Given the description of an element on the screen output the (x, y) to click on. 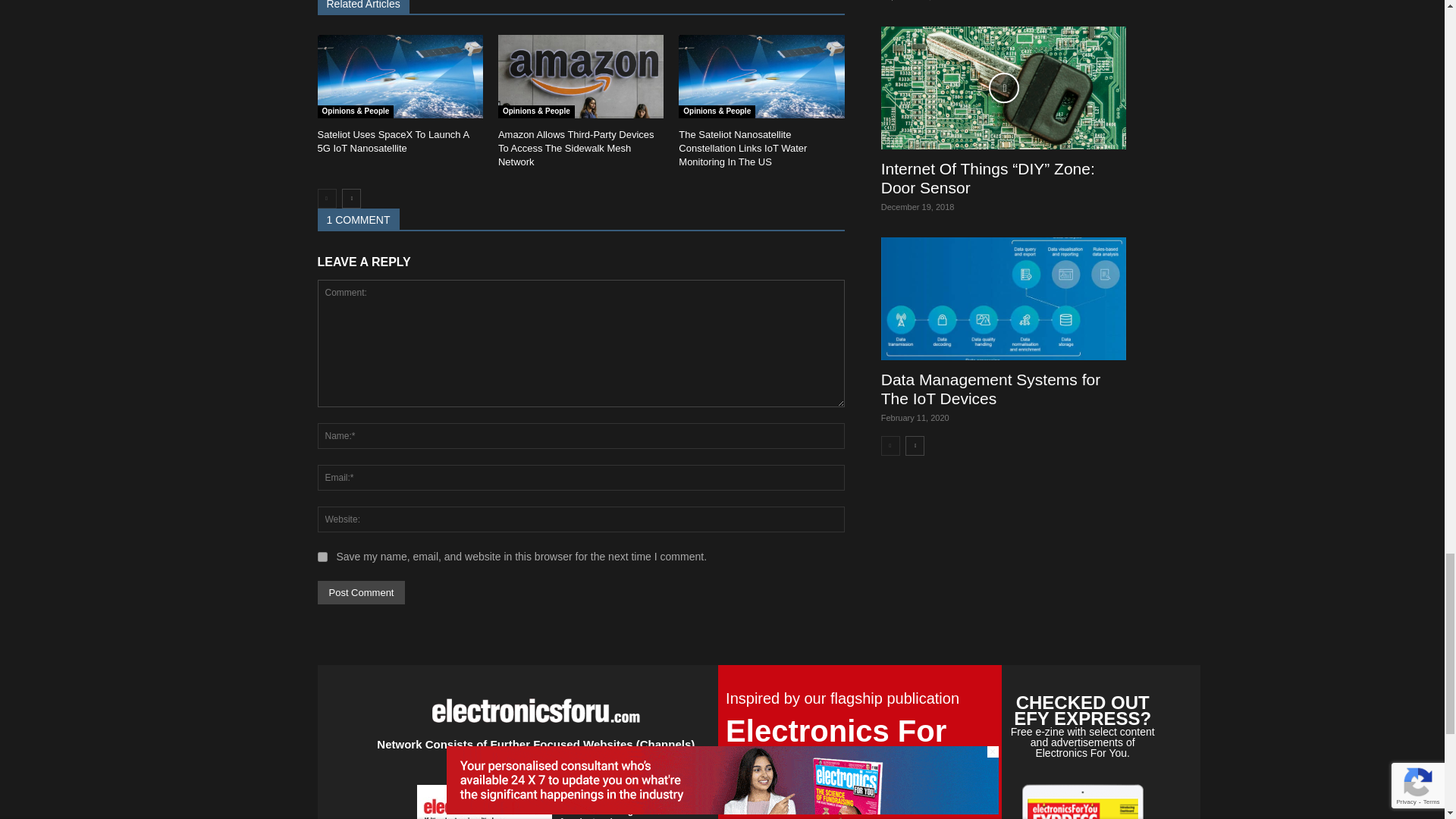
yes (321, 556)
Post Comment (360, 592)
